Given the description of an element on the screen output the (x, y) to click on. 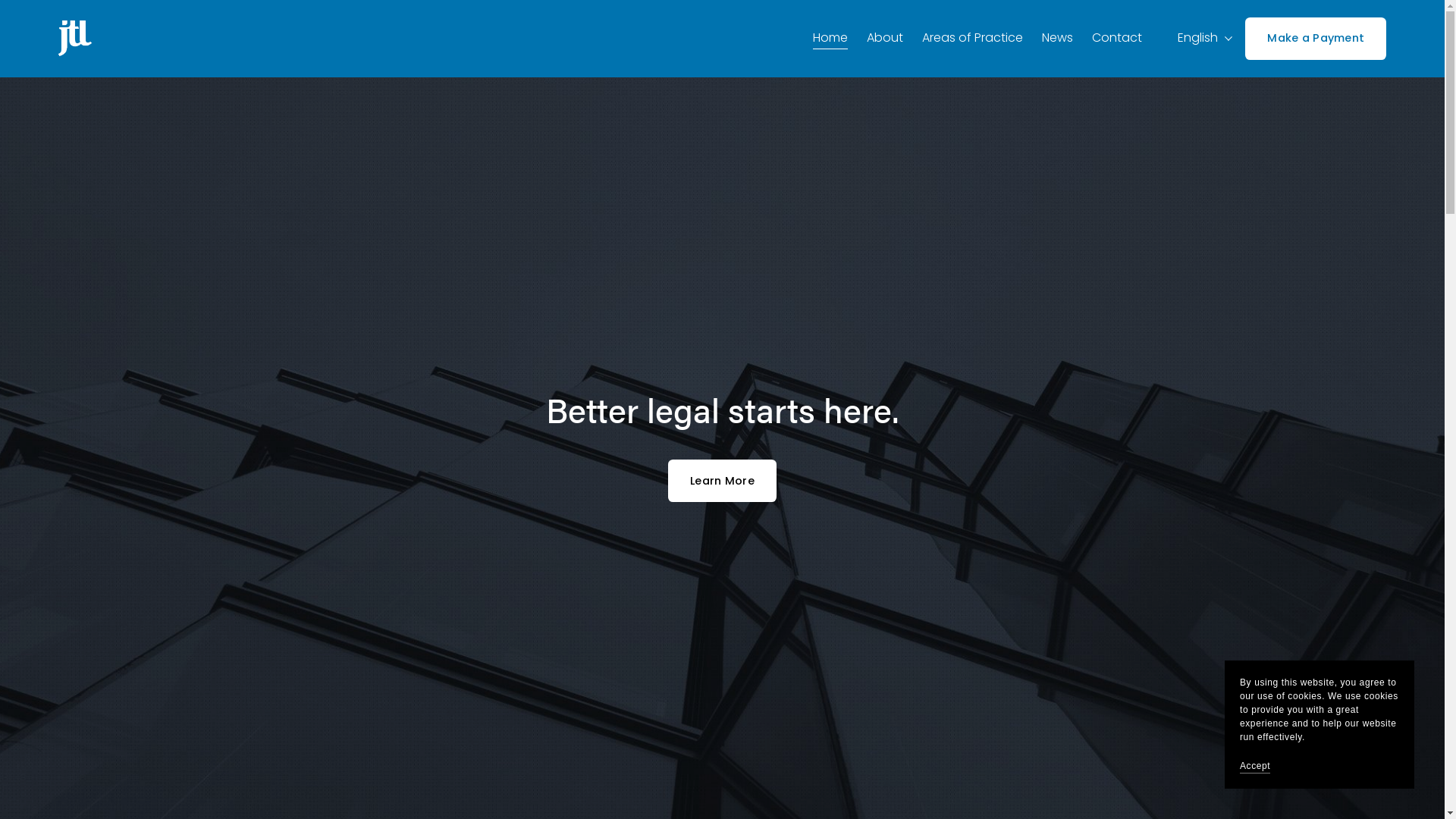
About Element type: text (884, 38)
News Element type: text (1057, 38)
Areas of Practice Element type: text (972, 38)
Accept Element type: text (1254, 766)
Contact Element type: text (1117, 38)
Make a Payment Element type: text (1315, 38)
Learn More Element type: text (722, 480)
Home Element type: text (829, 38)
